Given the description of an element on the screen output the (x, y) to click on. 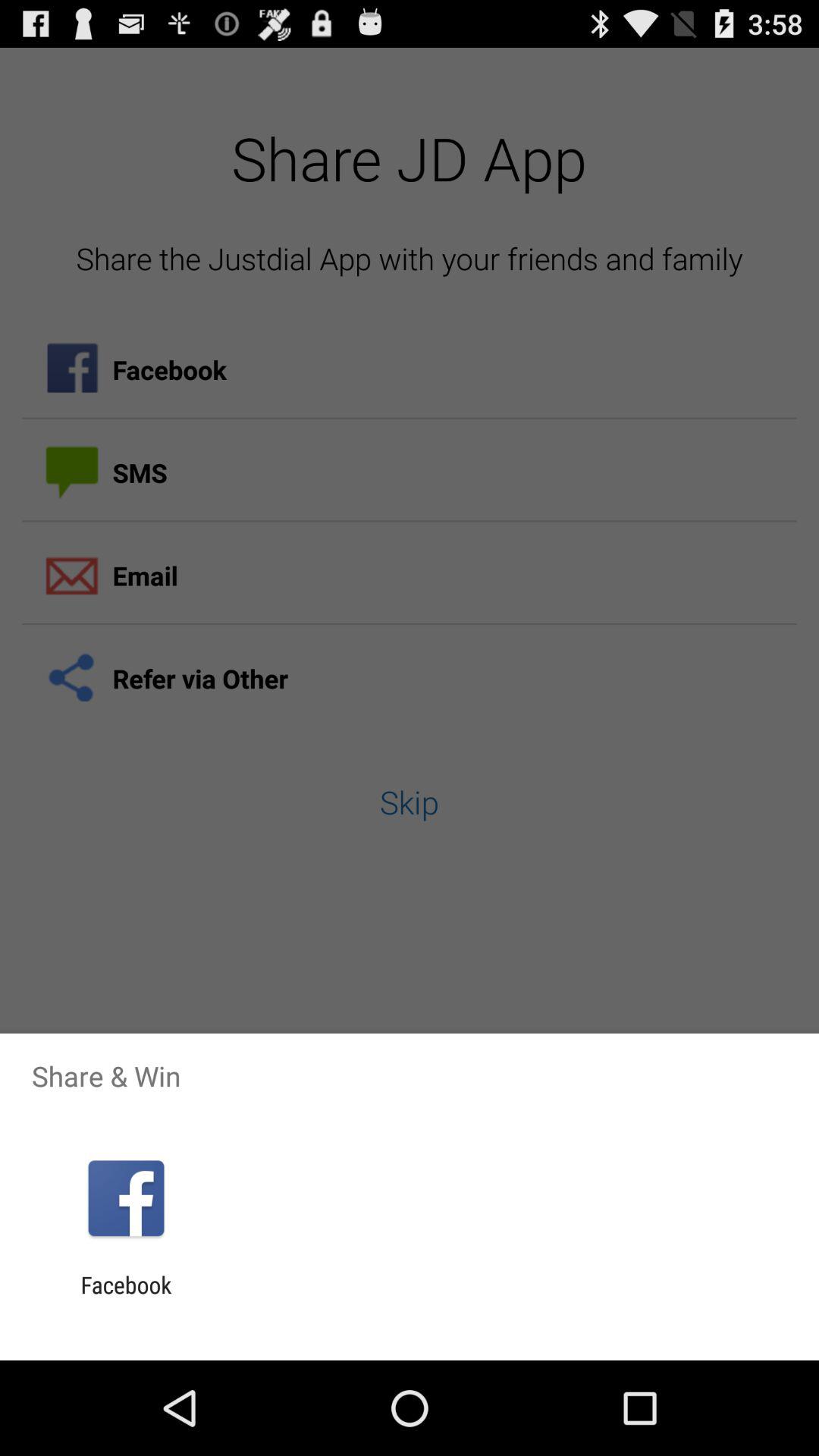
choose app below share & win item (126, 1198)
